Given the description of an element on the screen output the (x, y) to click on. 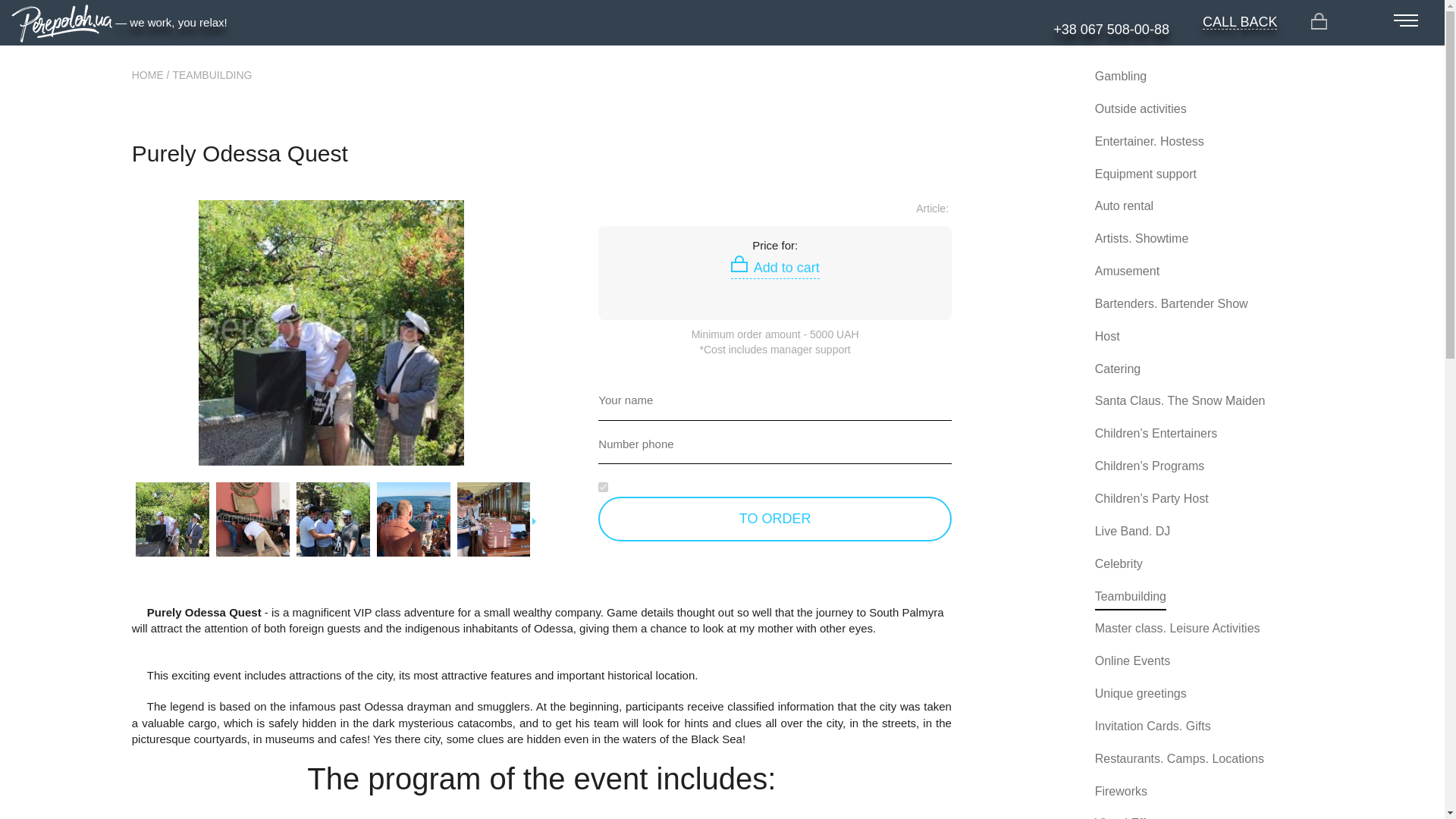
Gambling (1120, 75)
CALL BACK (1239, 22)
Equipment support (1145, 173)
1 (603, 487)
Artists. Showtime (1141, 237)
TEAMBUILDING (211, 74)
Outside activities (1140, 108)
Bartenders. Bartender Show (1170, 303)
Amusement (1126, 270)
HOME (147, 74)
